Given the description of an element on the screen output the (x, y) to click on. 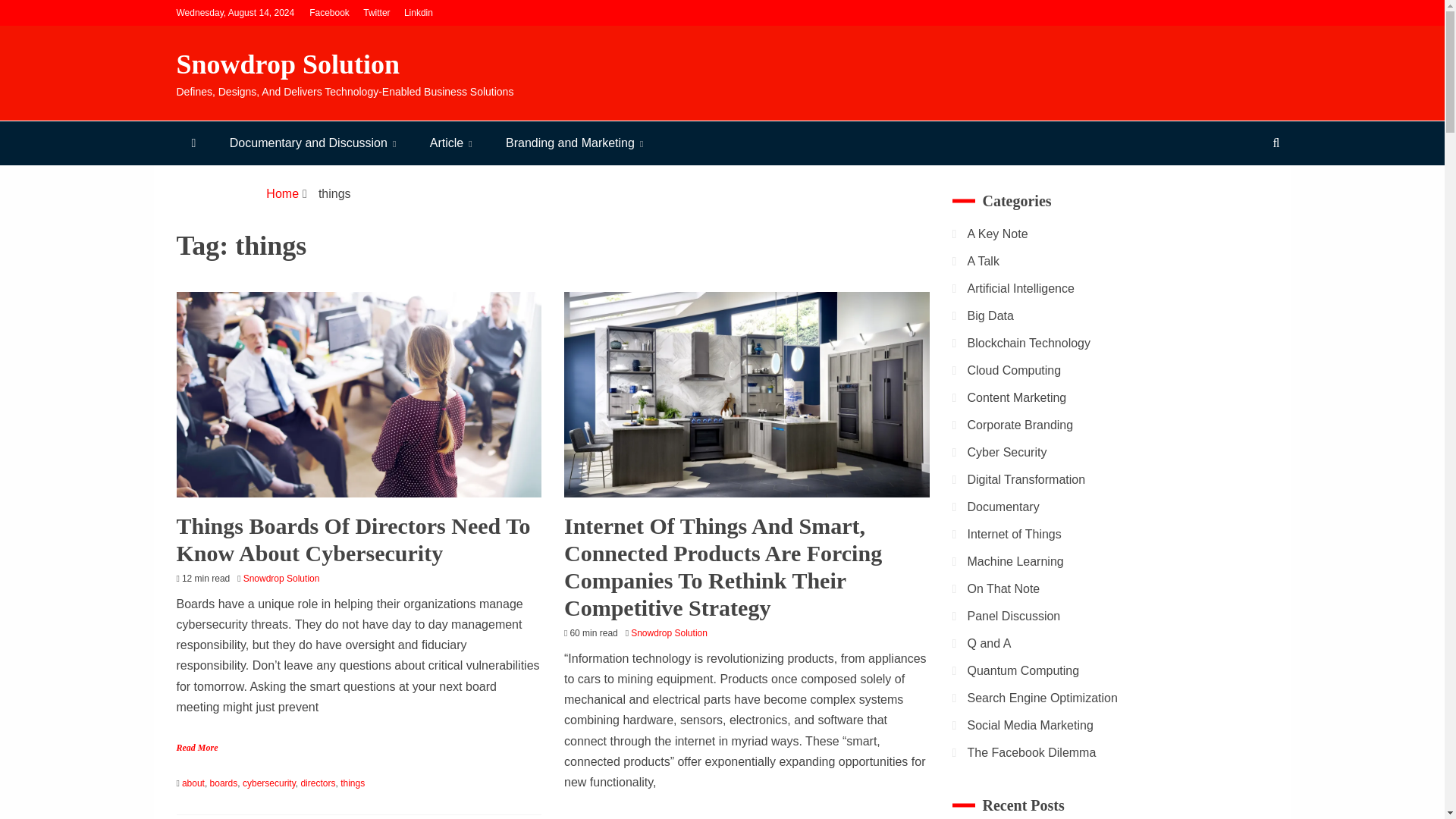
Article (450, 142)
about (193, 783)
Read More (196, 747)
Things Boards Of Directors Need To Know About Cybersecurity (352, 539)
Linkdin (418, 12)
Home (282, 193)
Snowdrop Solution (285, 578)
Facebook (328, 12)
Branding and Marketing (574, 142)
Search (31, 13)
